Given the description of an element on the screen output the (x, y) to click on. 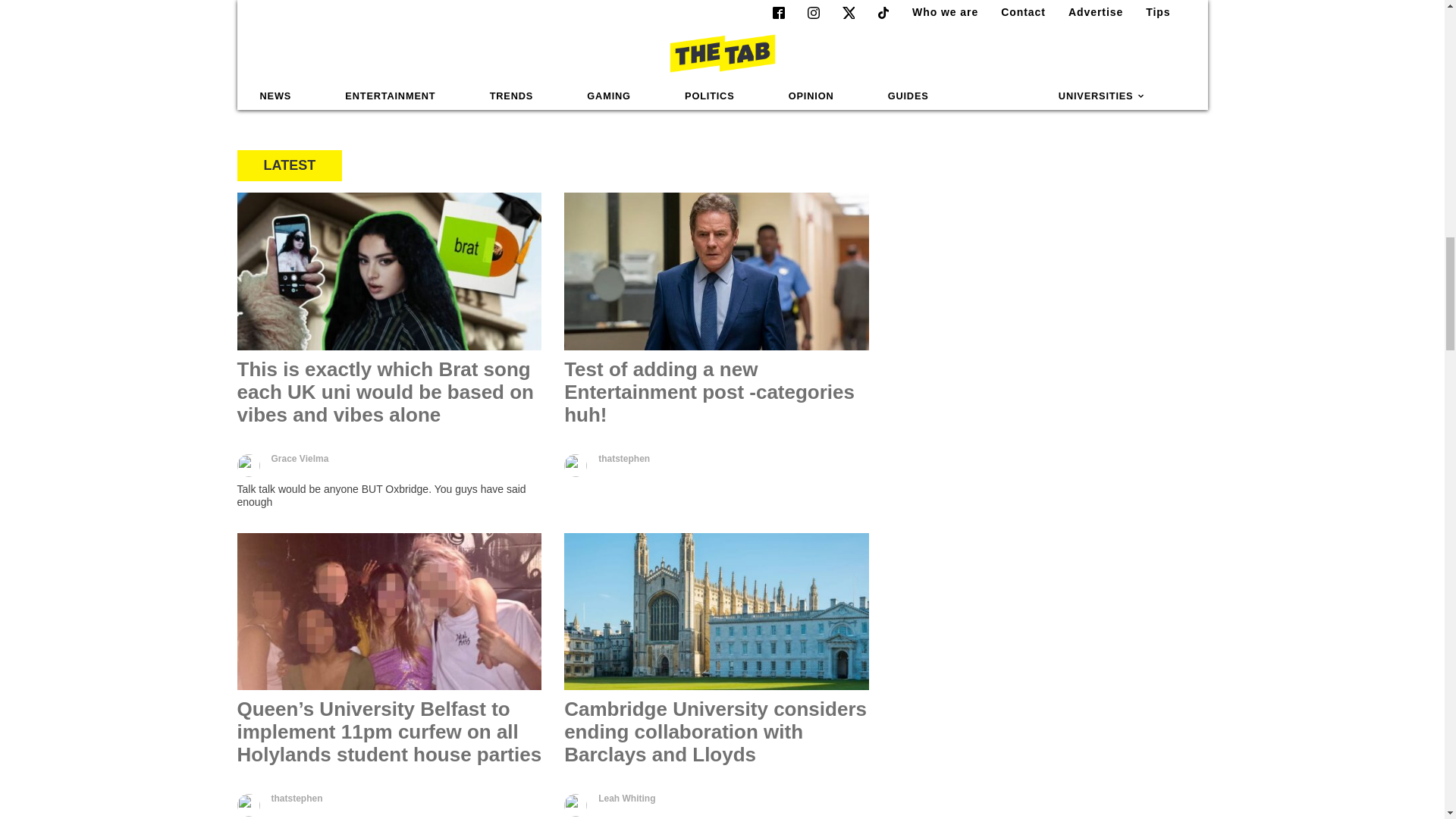
Posts by Hayley Soen (336, 74)
